Given the description of an element on the screen output the (x, y) to click on. 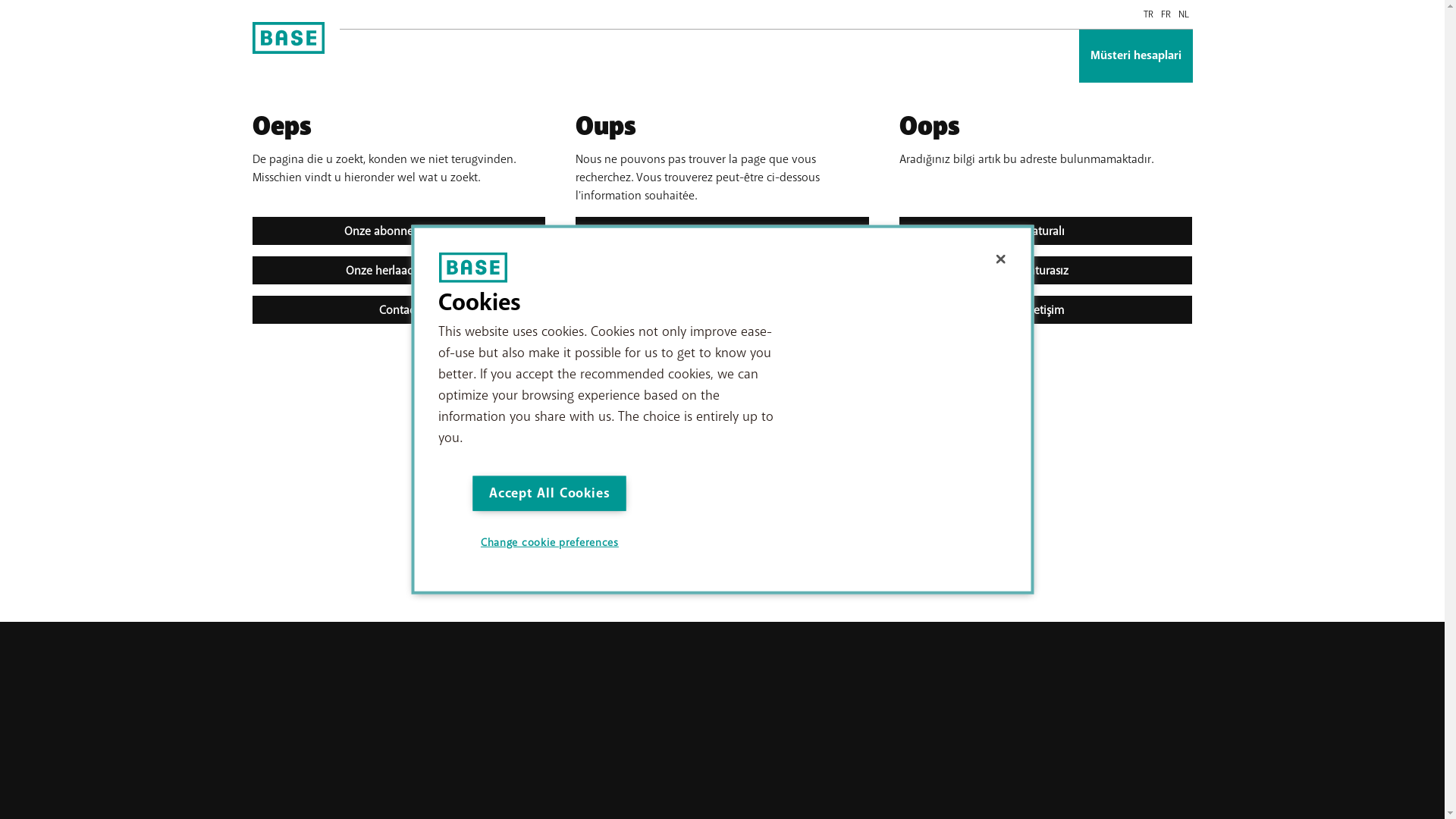
Contact Element type: text (398, 309)
FR Element type: text (1165, 14)
Change cookie preferences Element type: text (548, 542)
Onze abonnementen Element type: text (398, 230)
NL Element type: text (1182, 14)
Onze herlaadkaarten Element type: text (398, 270)
Usabilla Feedback Button Element type: hover (1443, 409)
Nos abonnements Element type: text (722, 230)
Accept All Cookies Element type: text (549, 492)
Contact Element type: text (722, 309)
TR Element type: text (1147, 14)
